Given the description of an element on the screen output the (x, y) to click on. 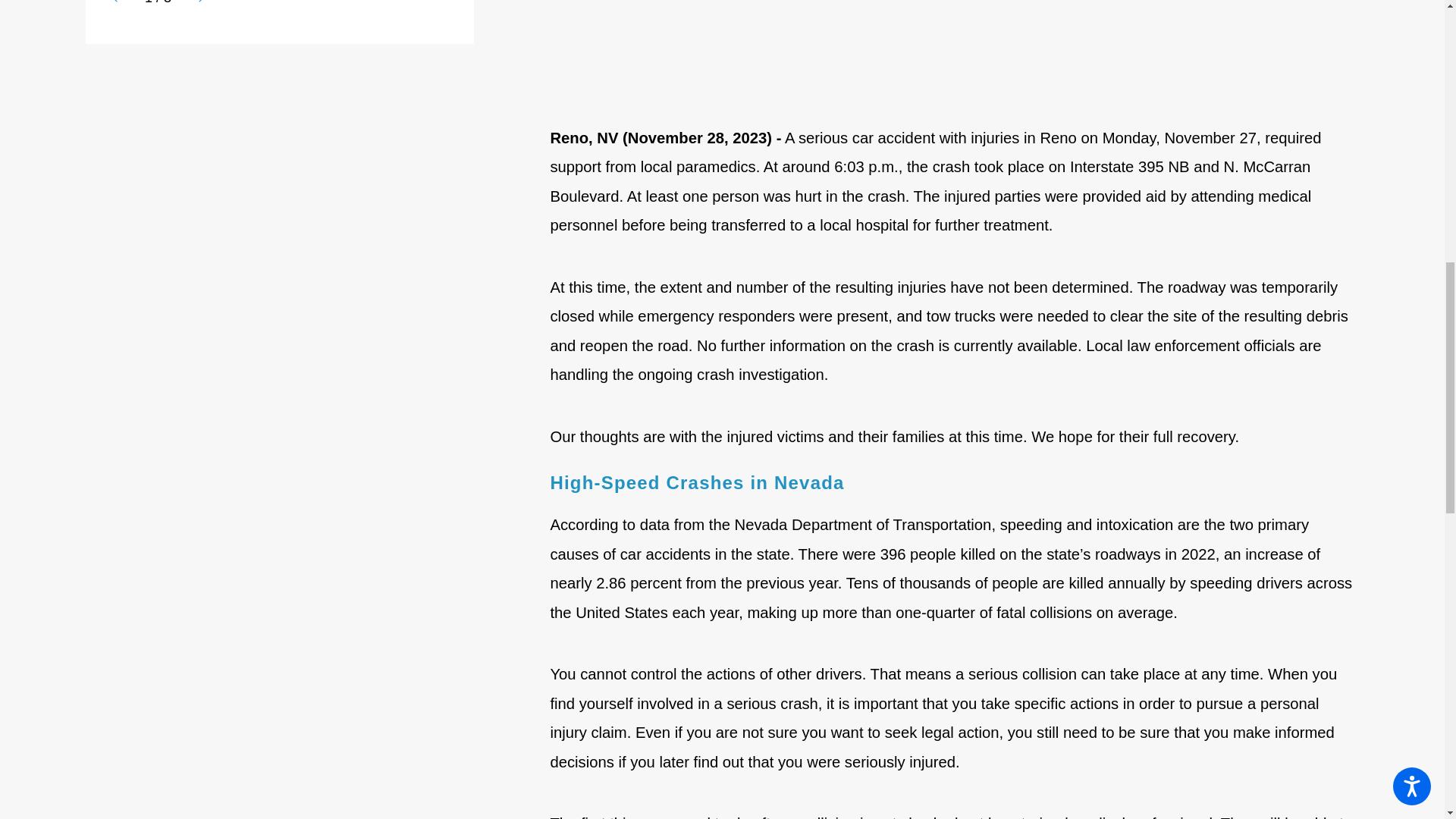
View previous item (121, 3)
View next item (193, 3)
